Given the description of an element on the screen output the (x, y) to click on. 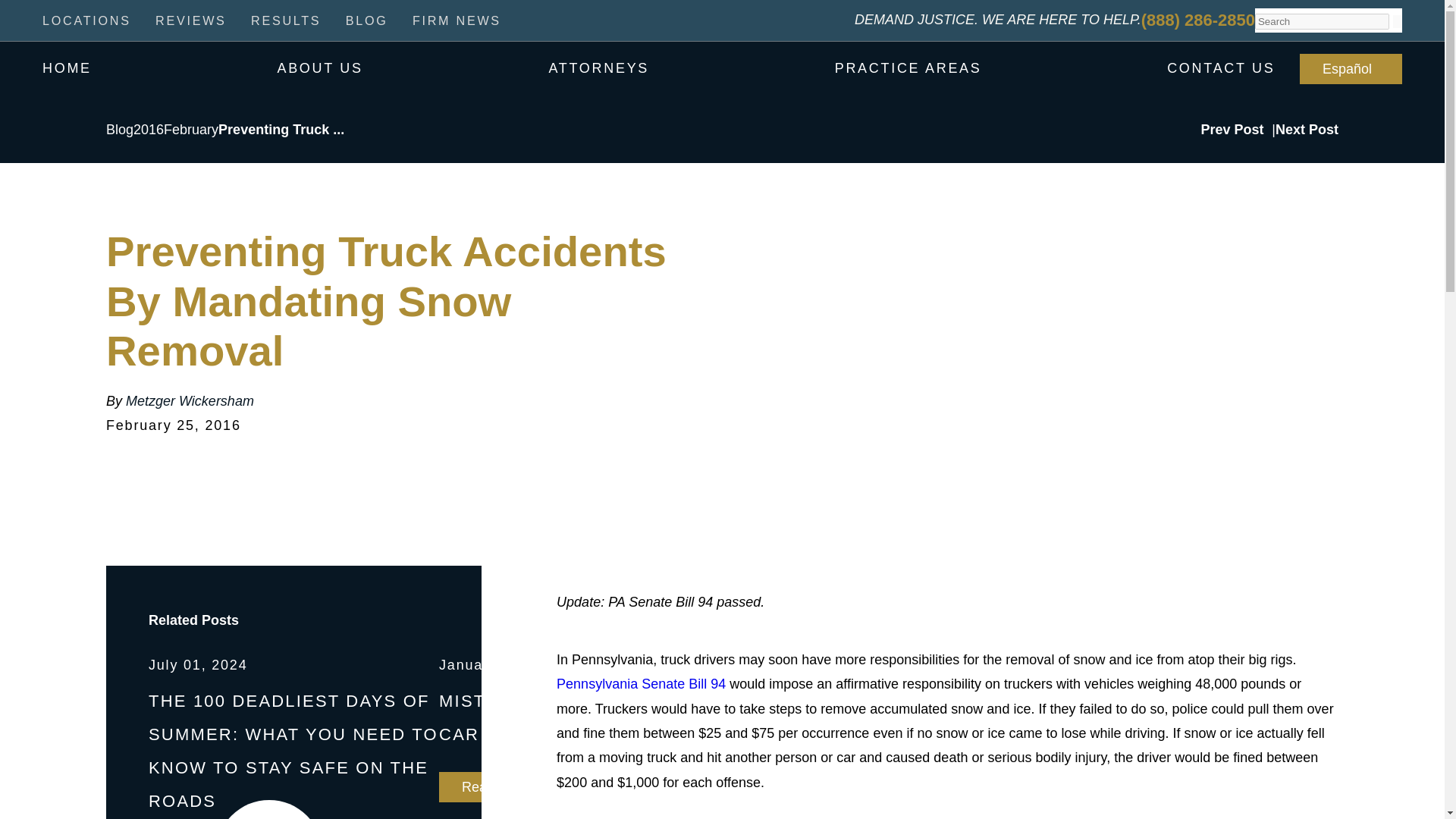
LOCATIONS (86, 25)
RESULTS (285, 25)
ABOUT US (319, 68)
PRACTICE AREAS (907, 68)
ATTORNEYS (598, 68)
HOME (66, 68)
FIRM NEWS (456, 25)
REVIEWS (191, 25)
BLOG (367, 25)
